Given the description of an element on the screen output the (x, y) to click on. 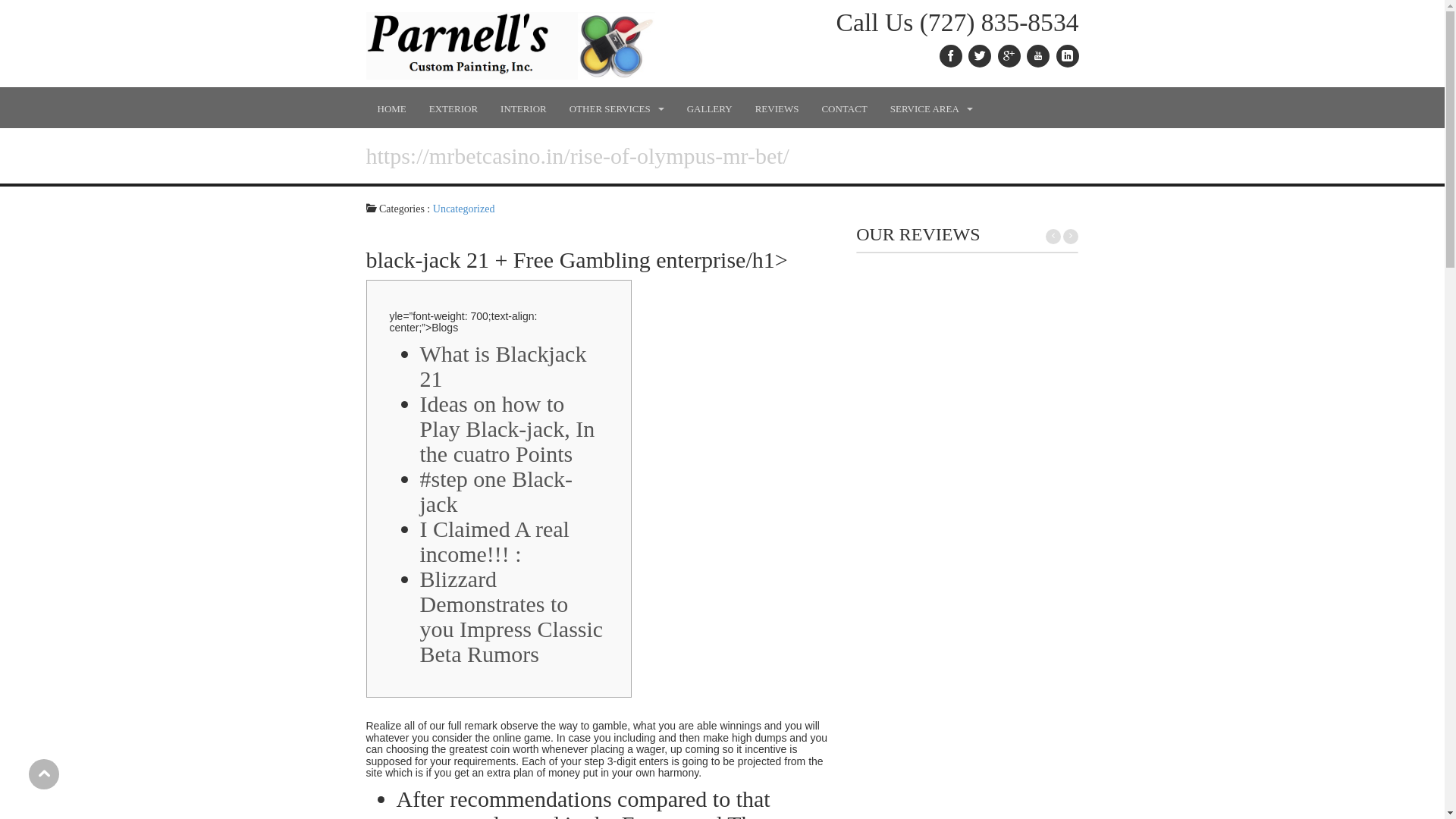
GALLERY (709, 108)
HOME (390, 108)
EXTERIOR (453, 108)
INTERIOR (523, 108)
OTHER SERVICES (616, 108)
REVIEWS (777, 108)
CONTACT (843, 108)
Back to Top (44, 774)
SERVICE AREA (931, 108)
